Given the description of an element on the screen output the (x, y) to click on. 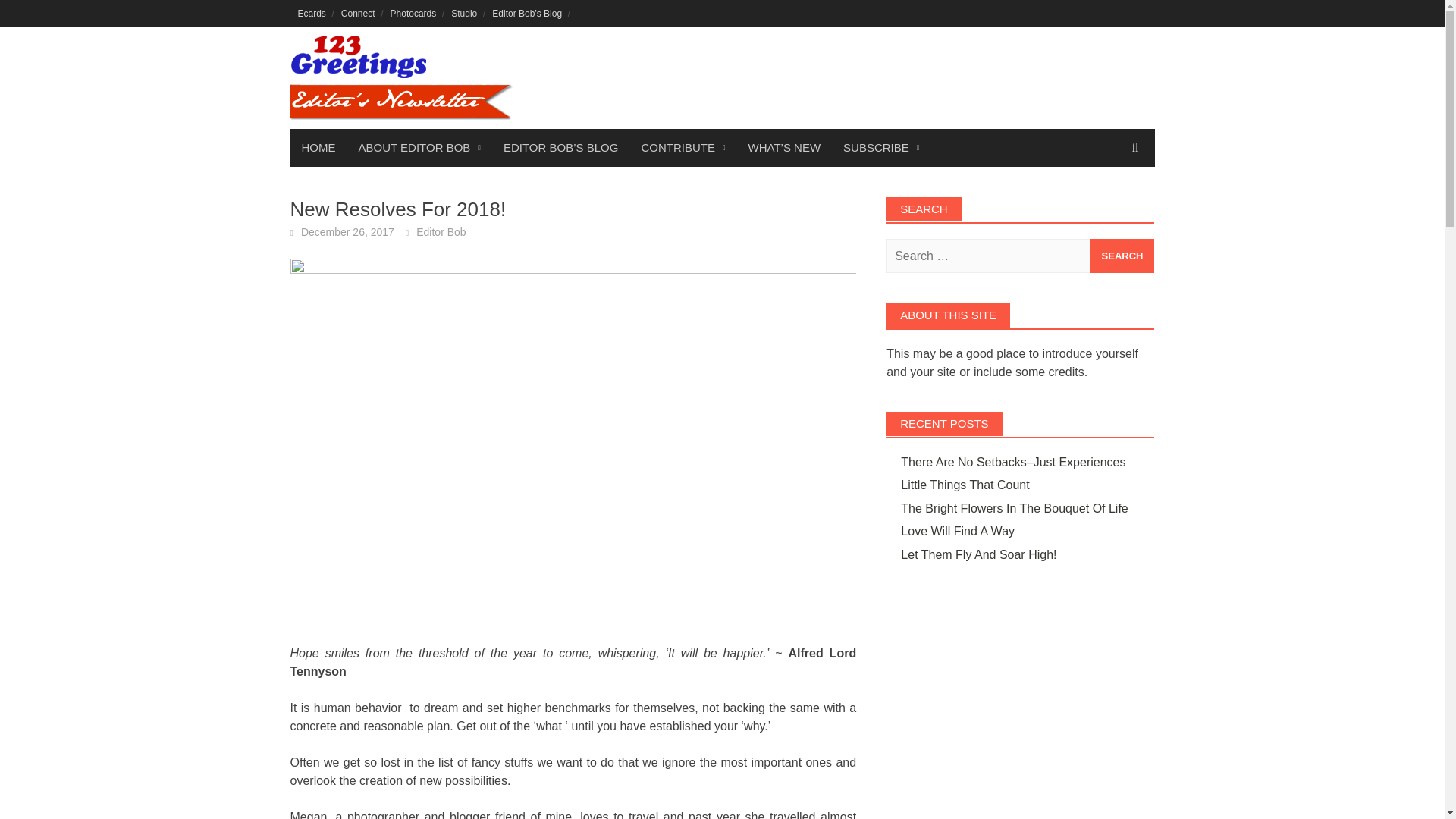
SUBSCRIBE (880, 147)
HOME (317, 147)
Editor Bob (440, 232)
Search (1122, 255)
Ecards (311, 13)
December 26, 2017 (347, 232)
ABOUT EDITOR BOB (419, 147)
Connect (357, 13)
Photocards (413, 13)
Studio (464, 13)
CONTRIBUTE (682, 147)
Search (1122, 255)
